Given the description of an element on the screen output the (x, y) to click on. 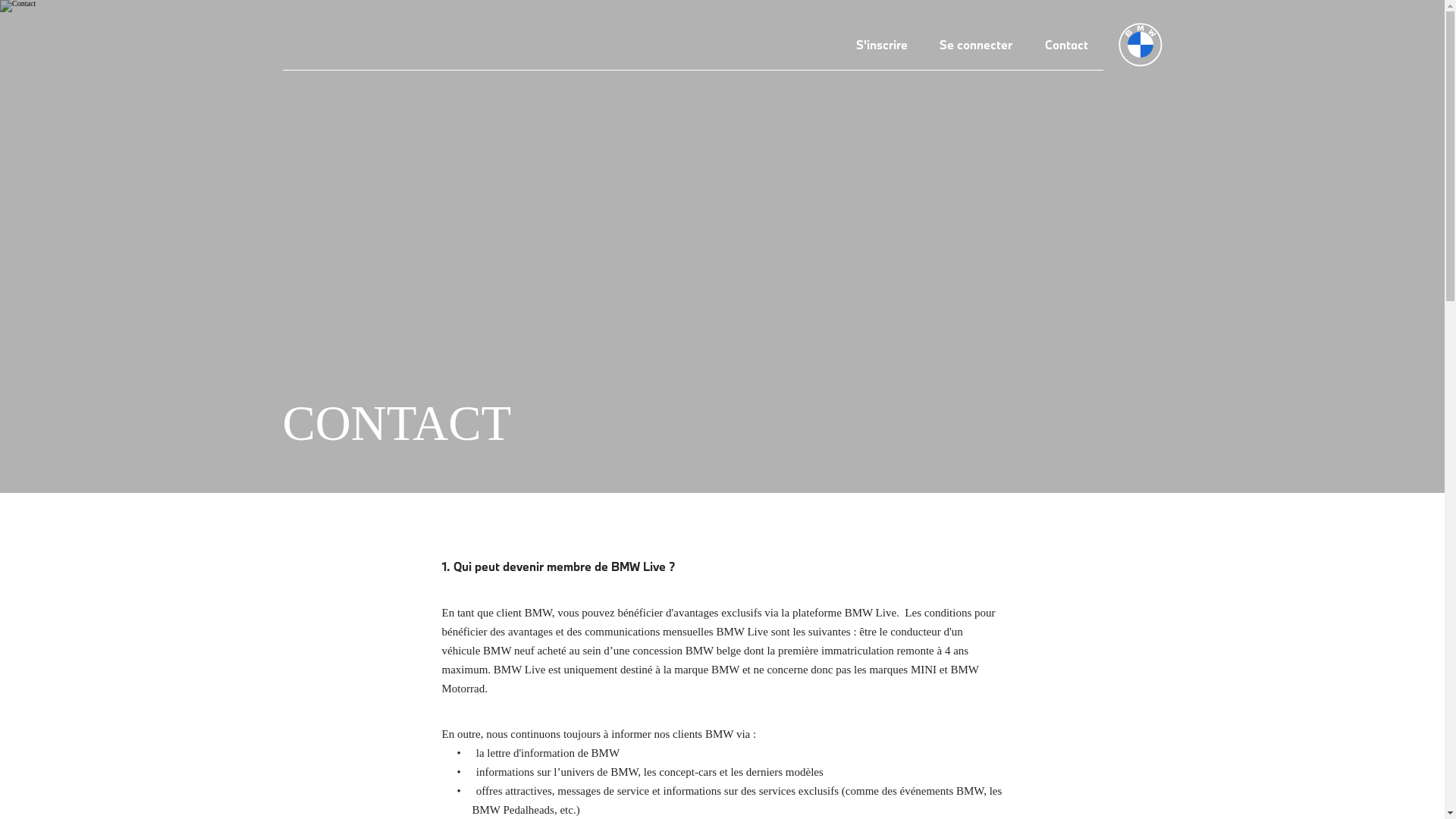
S'inscrire Element type: text (881, 45)
Contact Element type: text (1066, 45)
Se connecter Element type: text (975, 45)
